Given the description of an element on the screen output the (x, y) to click on. 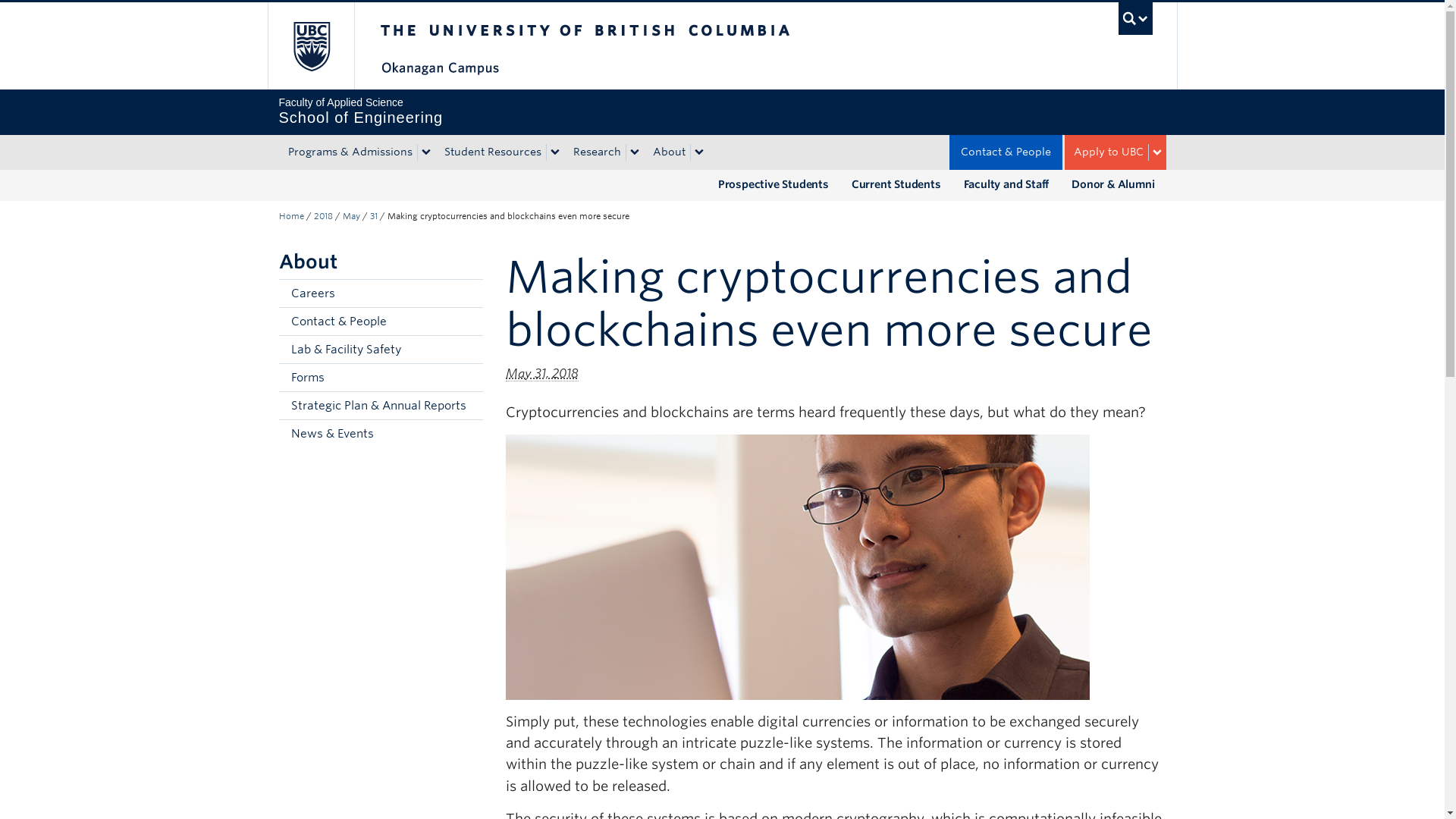
The University of British Columbia (309, 45)
The University of British Columbia (635, 45)
Student Resources (491, 151)
May 2018 (350, 215)
UBC Search (722, 110)
Thursday, May 31st, 2018, 4:07 pm (1135, 18)
School of Engineering (541, 373)
2018 (291, 215)
School of Engineering (323, 215)
